Given the description of an element on the screen output the (x, y) to click on. 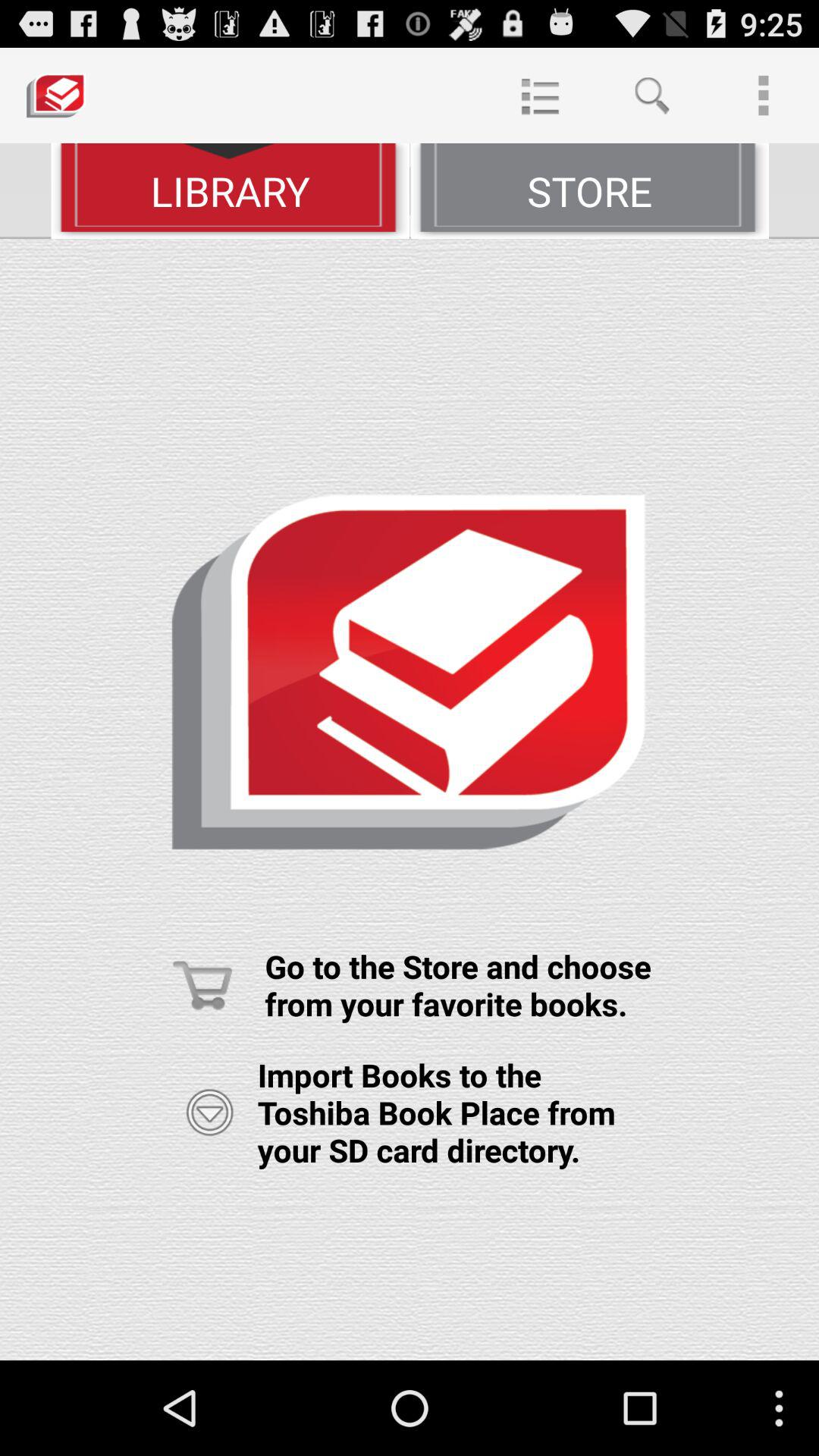
turn on item at the top (540, 95)
